Given the description of an element on the screen output the (x, y) to click on. 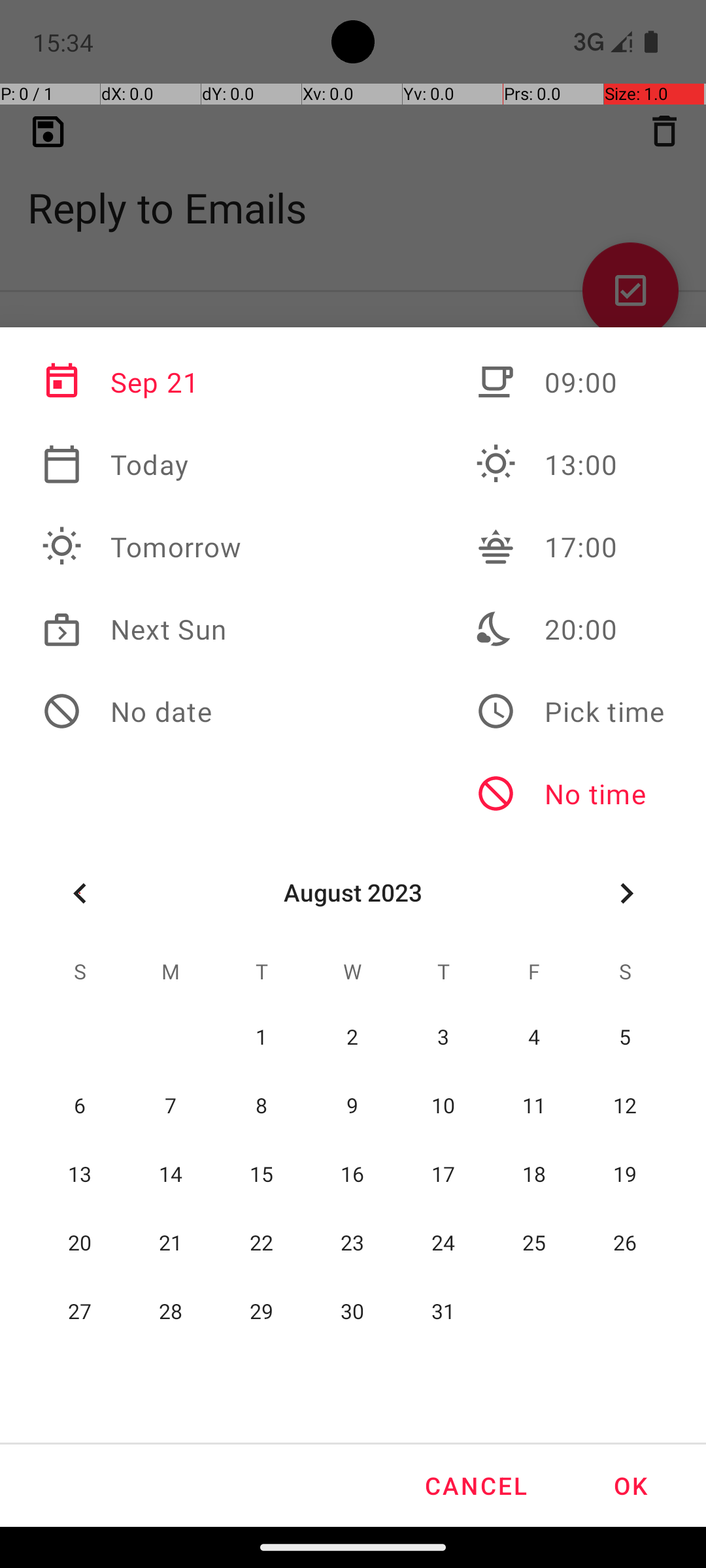
Sep 21 Element type: android.widget.CompoundButton (141, 382)
